Given the description of an element on the screen output the (x, y) to click on. 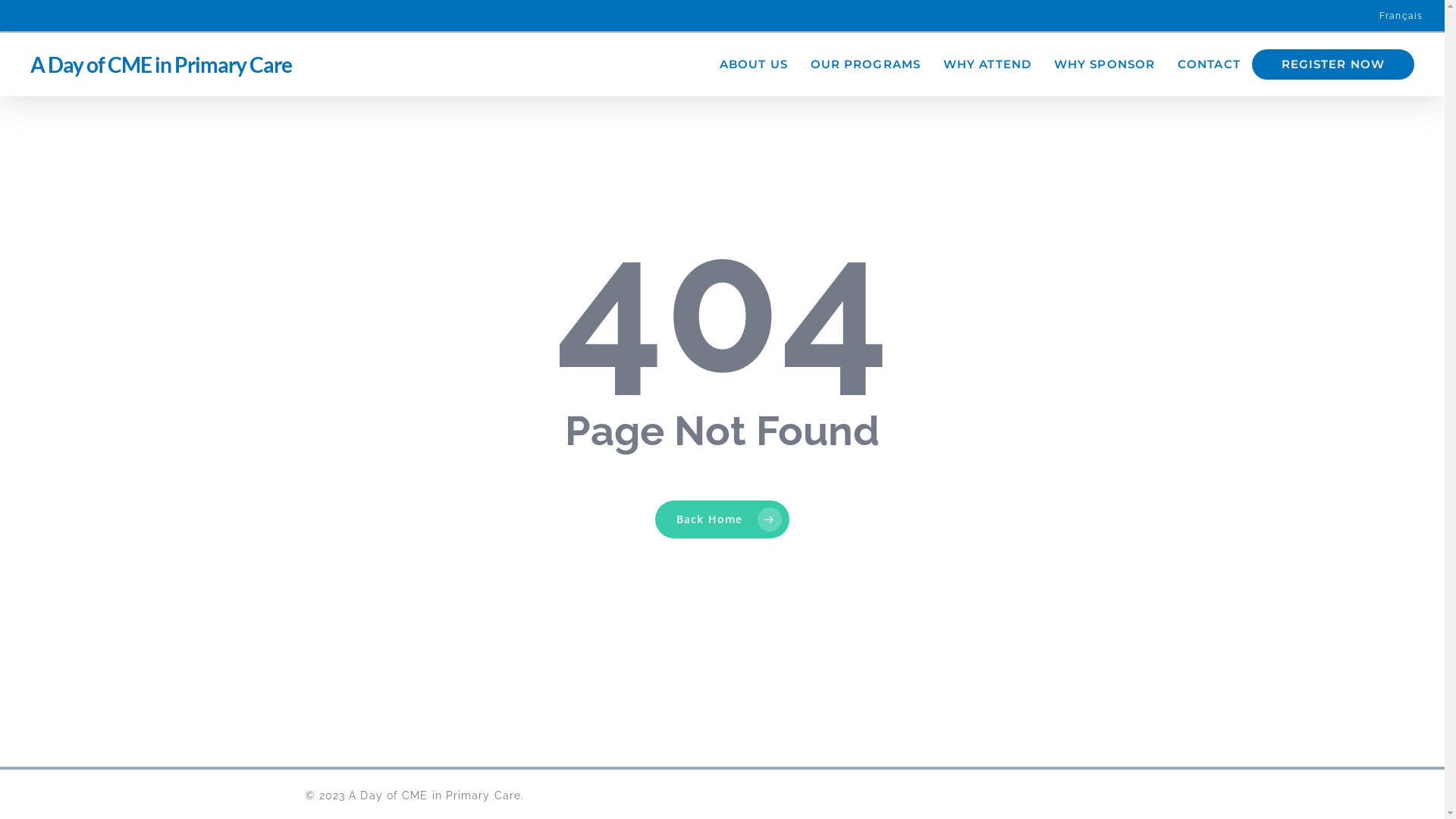
ABOUT US Element type: text (753, 64)
OUR PROGRAMS Element type: text (865, 64)
WHY SPONSOR Element type: text (1104, 64)
A Day of CME in Primary Care Element type: text (160, 64)
CONTACT Element type: text (1209, 64)
REGISTER NOW Element type: text (1333, 64)
WHY ATTEND Element type: text (986, 64)
Back Home Element type: text (722, 519)
